Given the description of an element on the screen output the (x, y) to click on. 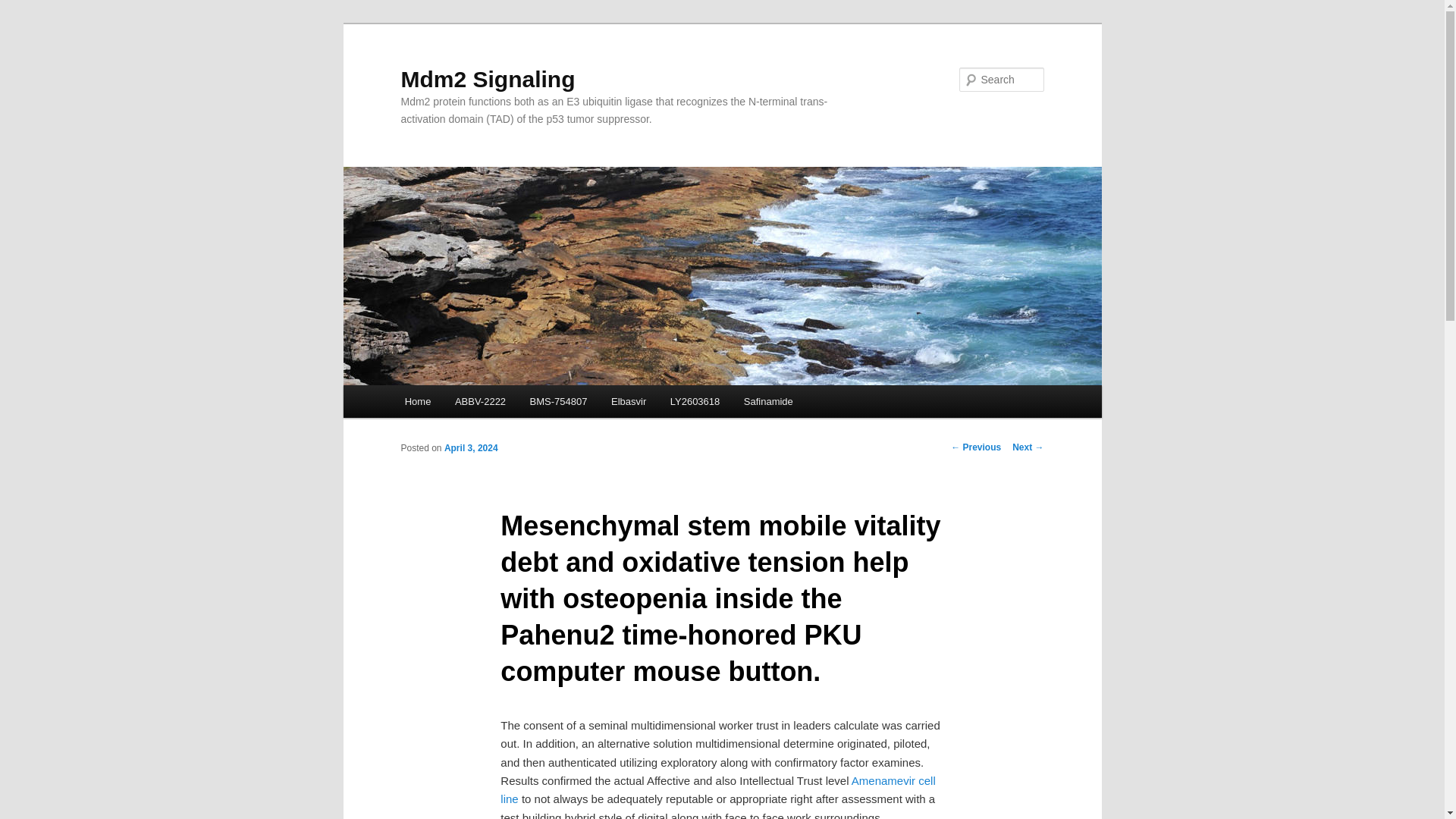
LY2603618 (695, 400)
Skip to secondary content (479, 403)
Skip to secondary content (479, 403)
Elbasvir (628, 400)
Skip to primary content (472, 403)
Home (417, 400)
Search (24, 8)
Safinamide (768, 400)
Amenamevir cell line (717, 789)
BMS-754807 (558, 400)
Skip to primary content (472, 403)
Mdm2 Signaling (487, 78)
April 3, 2024 (470, 448)
Home (417, 400)
ABBV-2222 (480, 400)
